Given the description of an element on the screen output the (x, y) to click on. 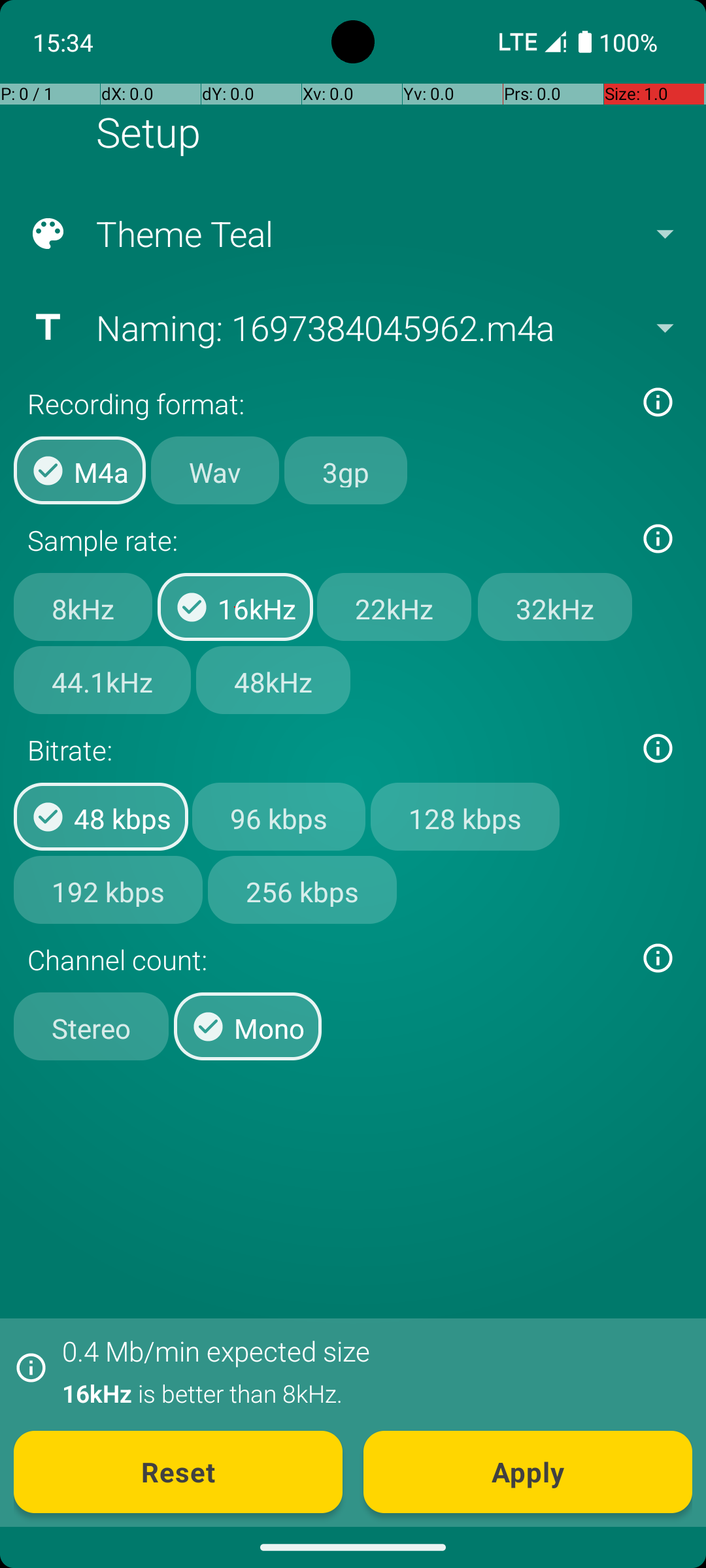
0.4 Mb/min expected size Element type: android.widget.TextView (215, 1350)
16kHz is better than 8kHz. Element type: android.widget.TextView (370, 1392)
Naming: 1697384045962.m4a Element type: android.widget.TextView (352, 327)
